Given the description of an element on the screen output the (x, y) to click on. 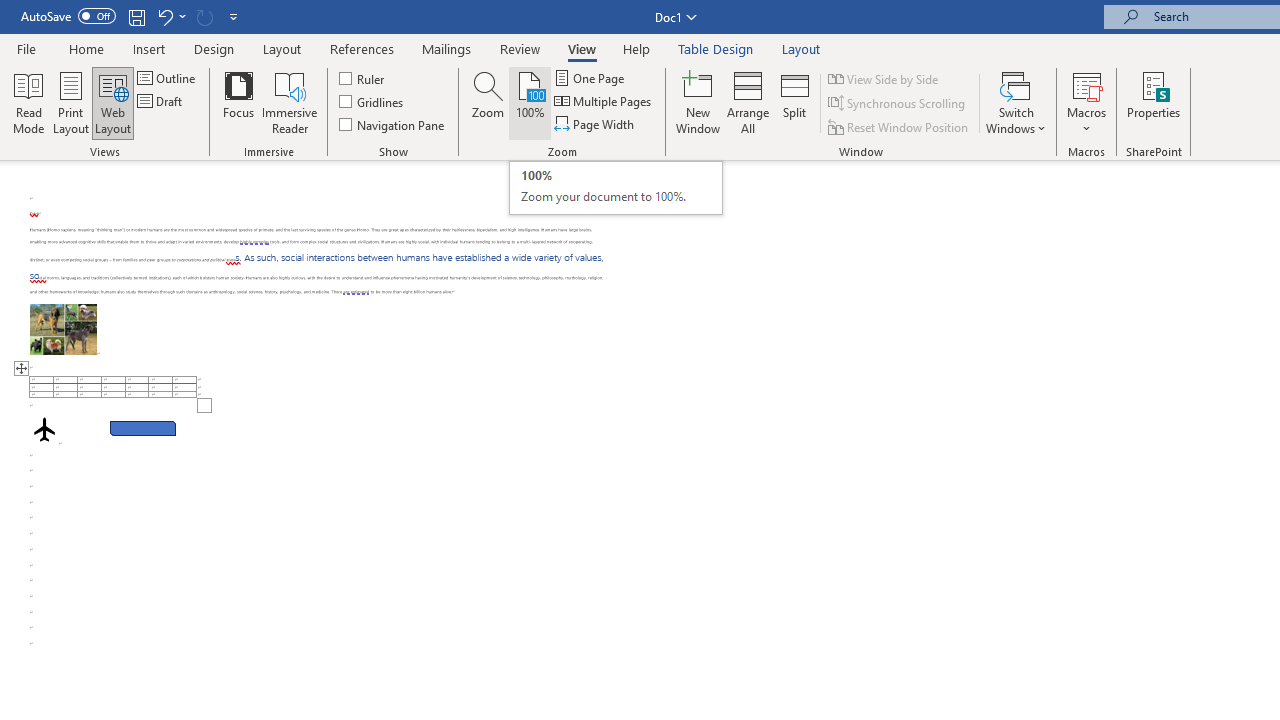
Undo Row Height Spinner (170, 15)
Page Width (595, 124)
100% (529, 102)
Rectangle: Diagonal Corners Snipped 2 (143, 428)
Airplane with solid fill (43, 429)
Synchronous Scrolling (898, 103)
Undo Row Height Spinner (164, 15)
Zoom... (488, 102)
One Page (590, 78)
Multiple Pages (603, 101)
Properties (1153, 102)
